Given the description of an element on the screen output the (x, y) to click on. 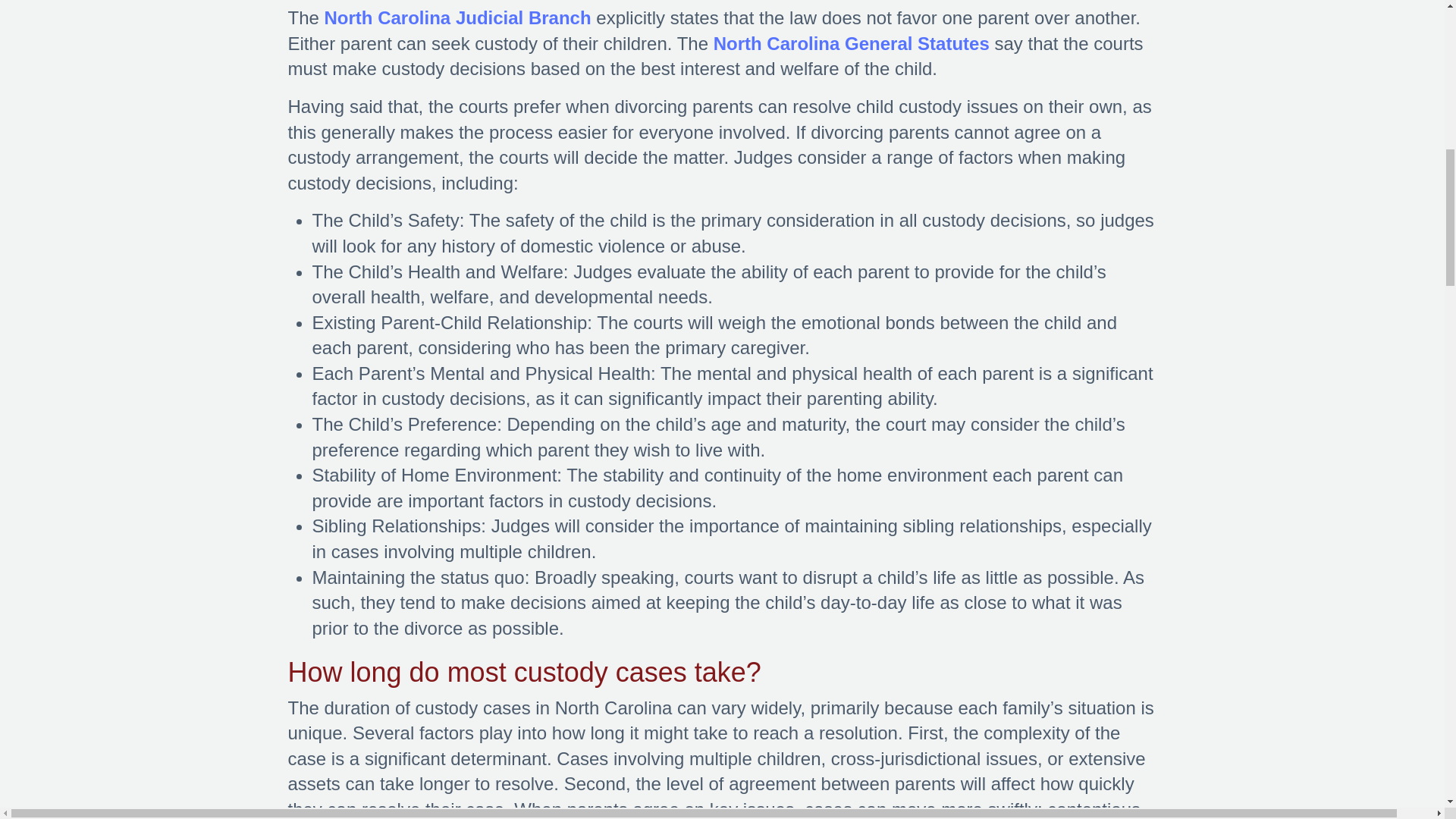
North Carolina General Statutes (851, 43)
North Carolina Judicial Branch (457, 17)
North Carolina Judicial Branch (457, 17)
North Carolina General Statutes (851, 43)
